Given the description of an element on the screen output the (x, y) to click on. 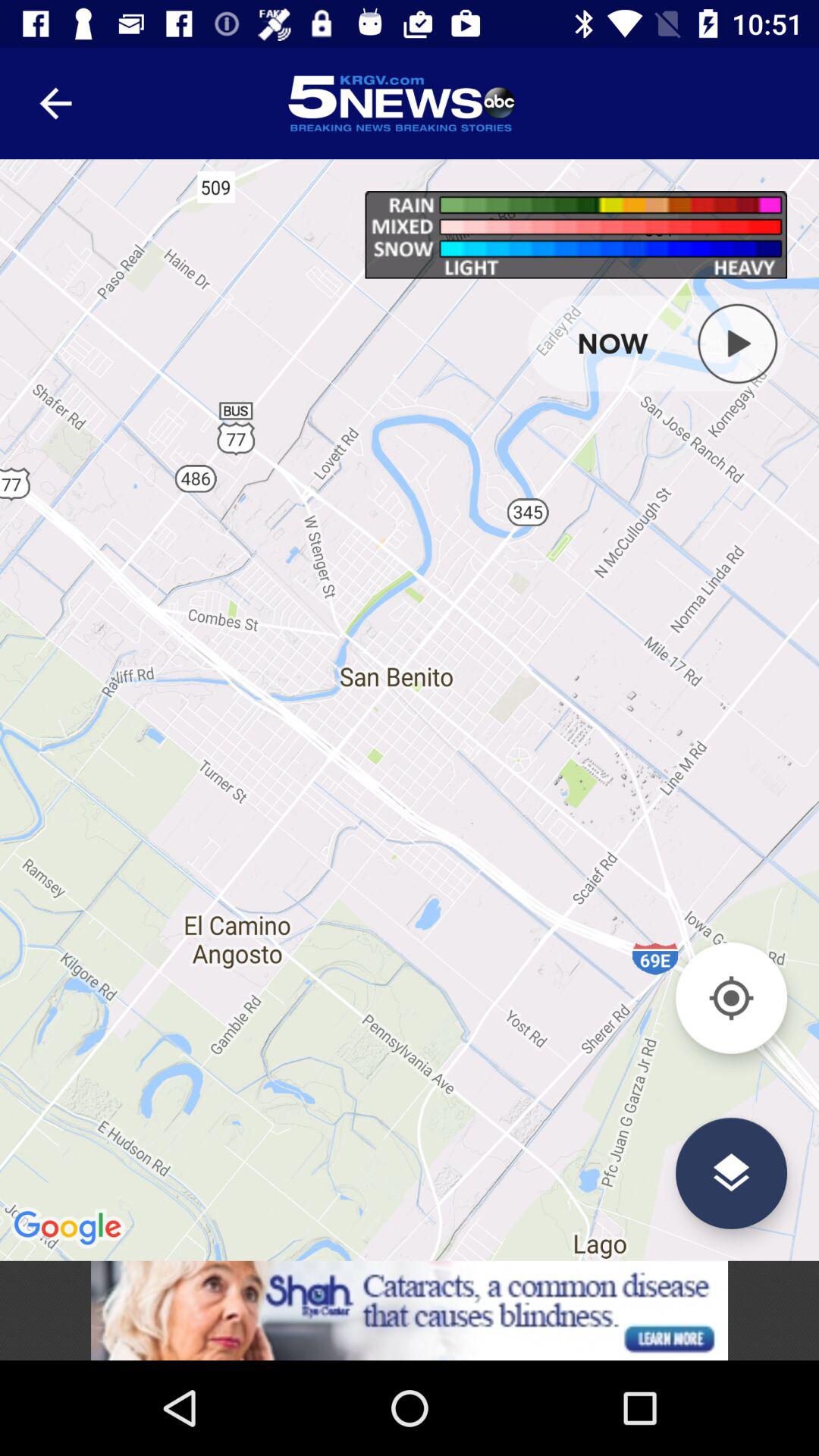
add location (731, 997)
